Given the description of an element on the screen output the (x, y) to click on. 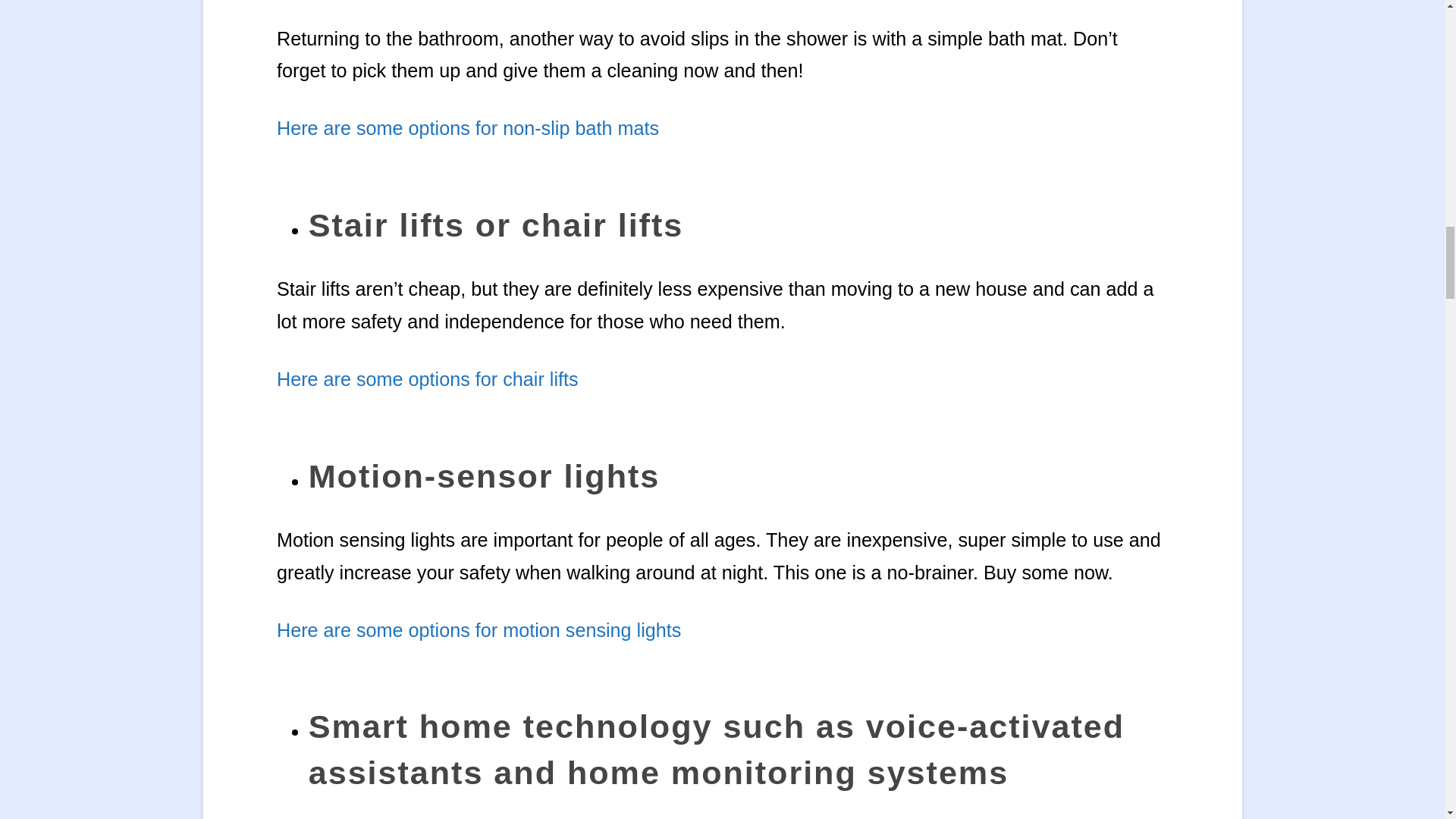
Here are some options for non-slip bath mats (467, 127)
Here are some options for chair lifts (427, 378)
Here are some options for motion sensing lights (478, 629)
